Given the description of an element on the screen output the (x, y) to click on. 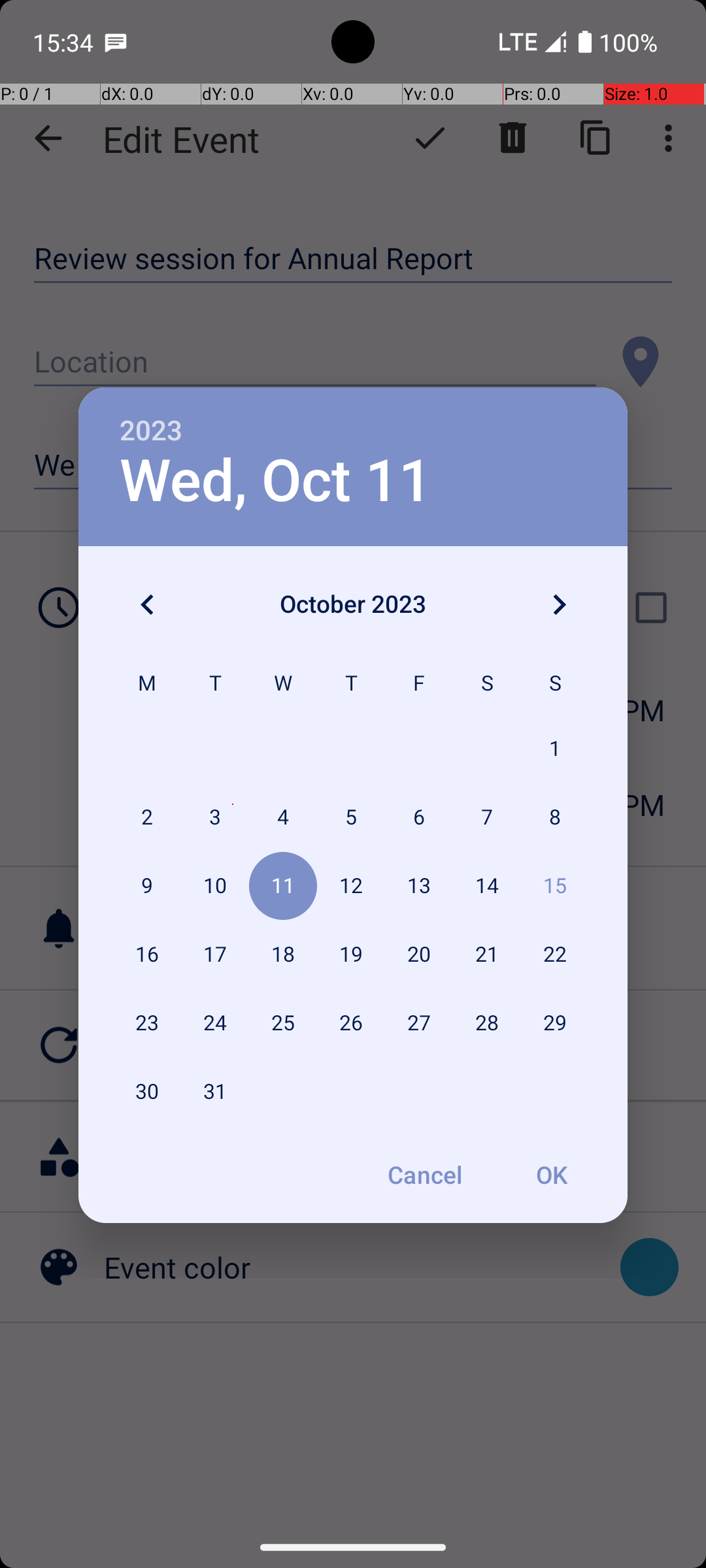
Wed, Oct 11 Element type: android.widget.TextView (275, 480)
